Given the description of an element on the screen output the (x, y) to click on. 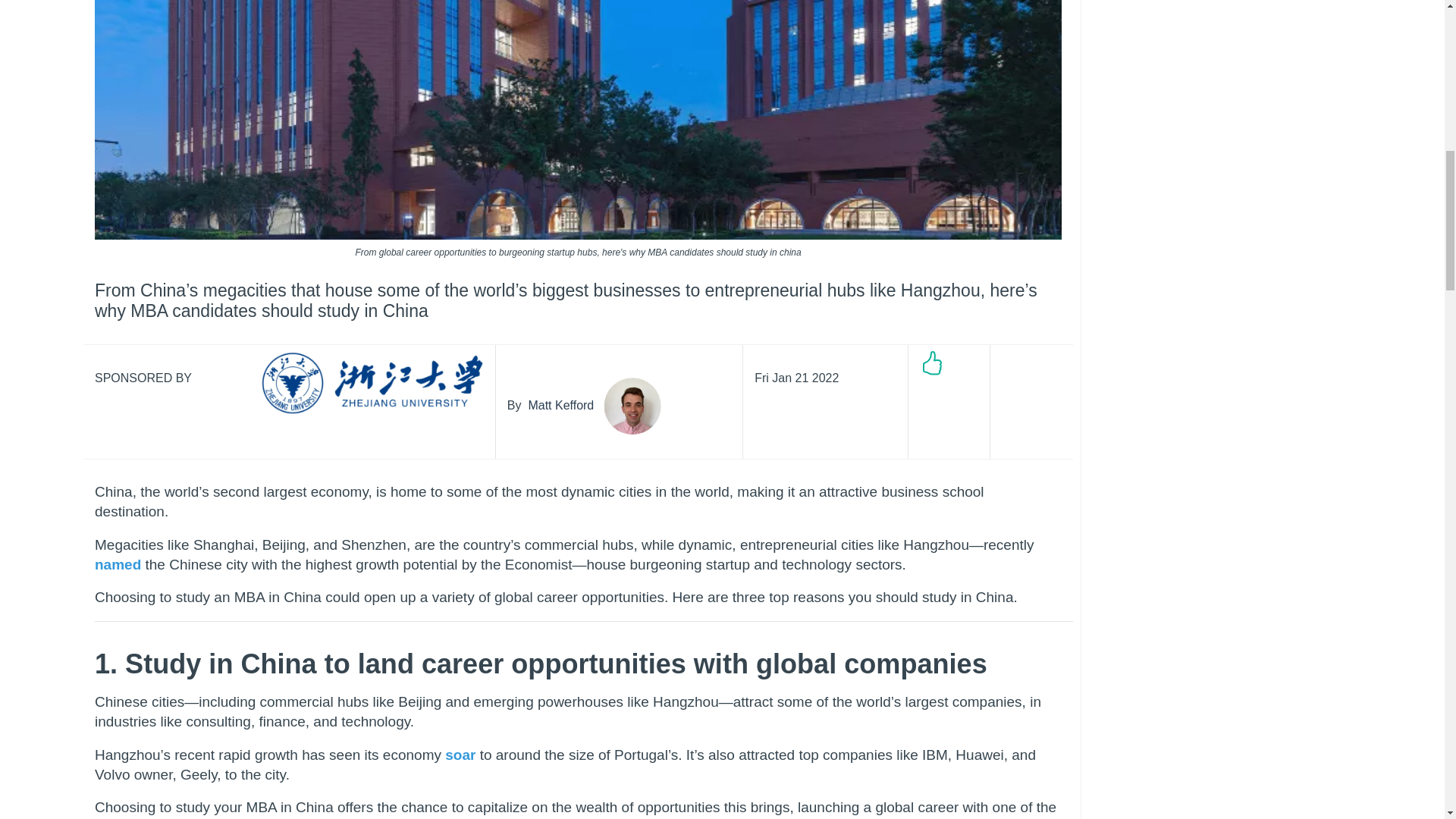
Headshot of Matt Kefford (632, 405)
